Given the description of an element on the screen output the (x, y) to click on. 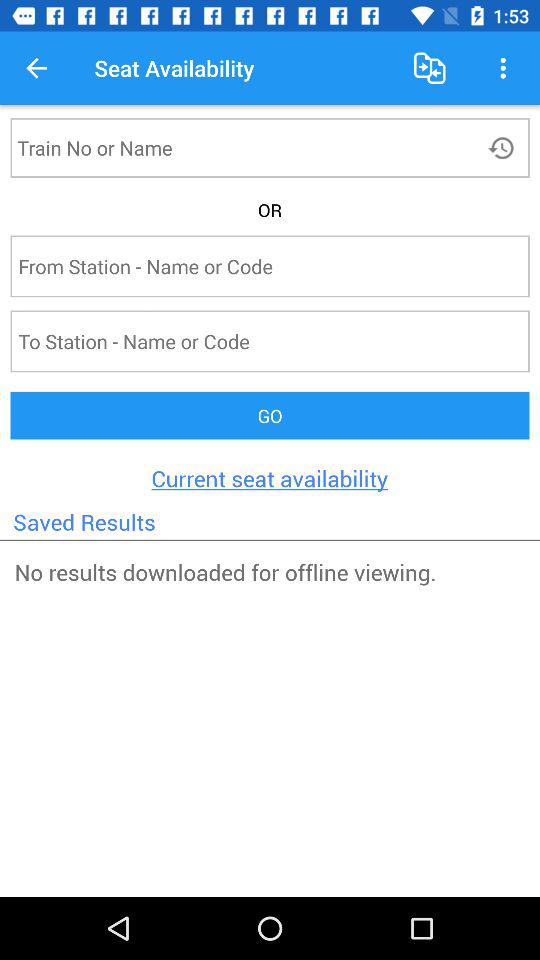
refresh (503, 147)
